Given the description of an element on the screen output the (x, y) to click on. 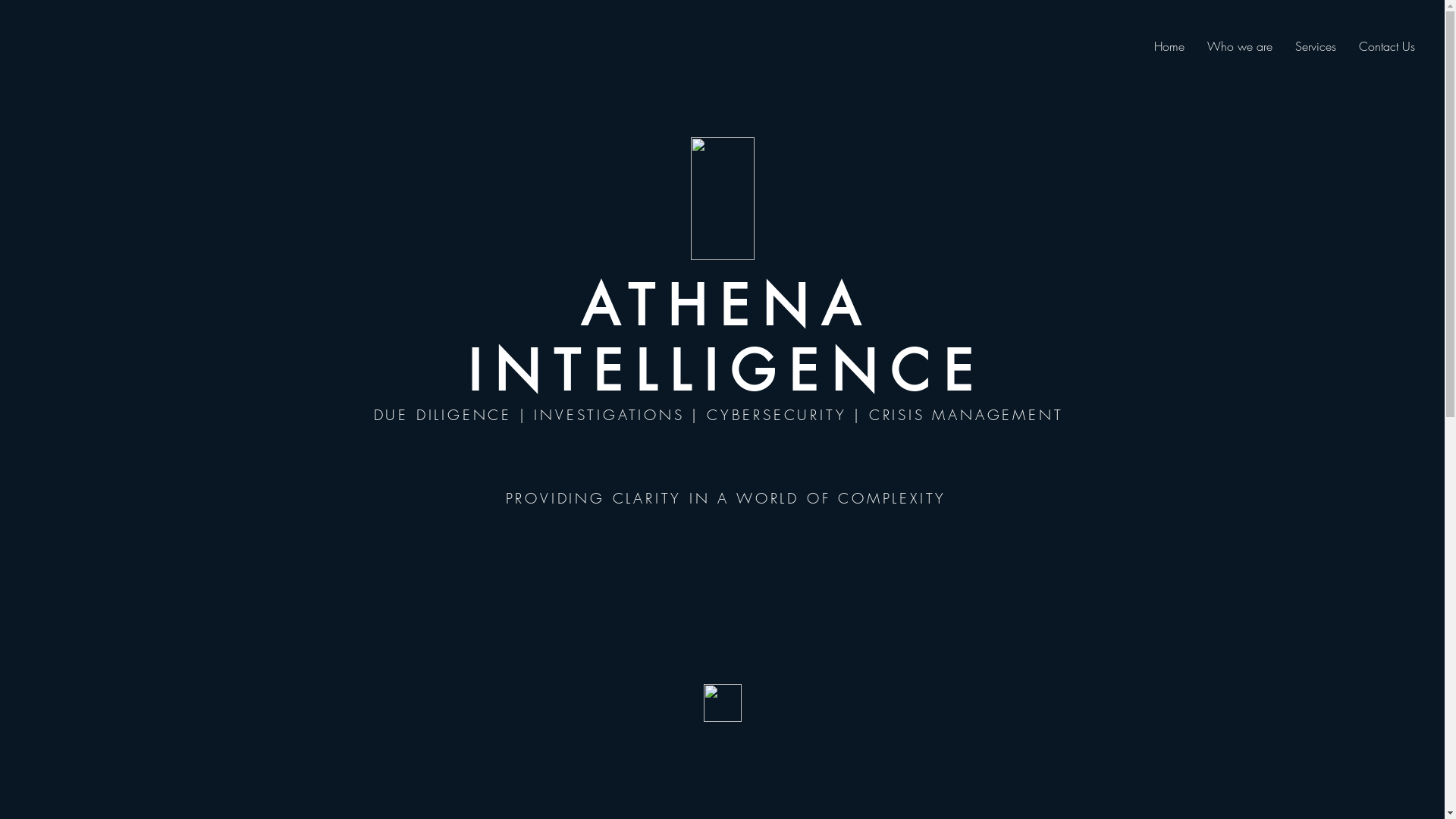
Services Element type: text (1315, 46)
Contact Us Element type: text (1386, 46)
White on Transparent.png Element type: hover (721, 198)
Who we are Element type: text (1239, 46)
Home Element type: text (1168, 46)
